Given the description of an element on the screen output the (x, y) to click on. 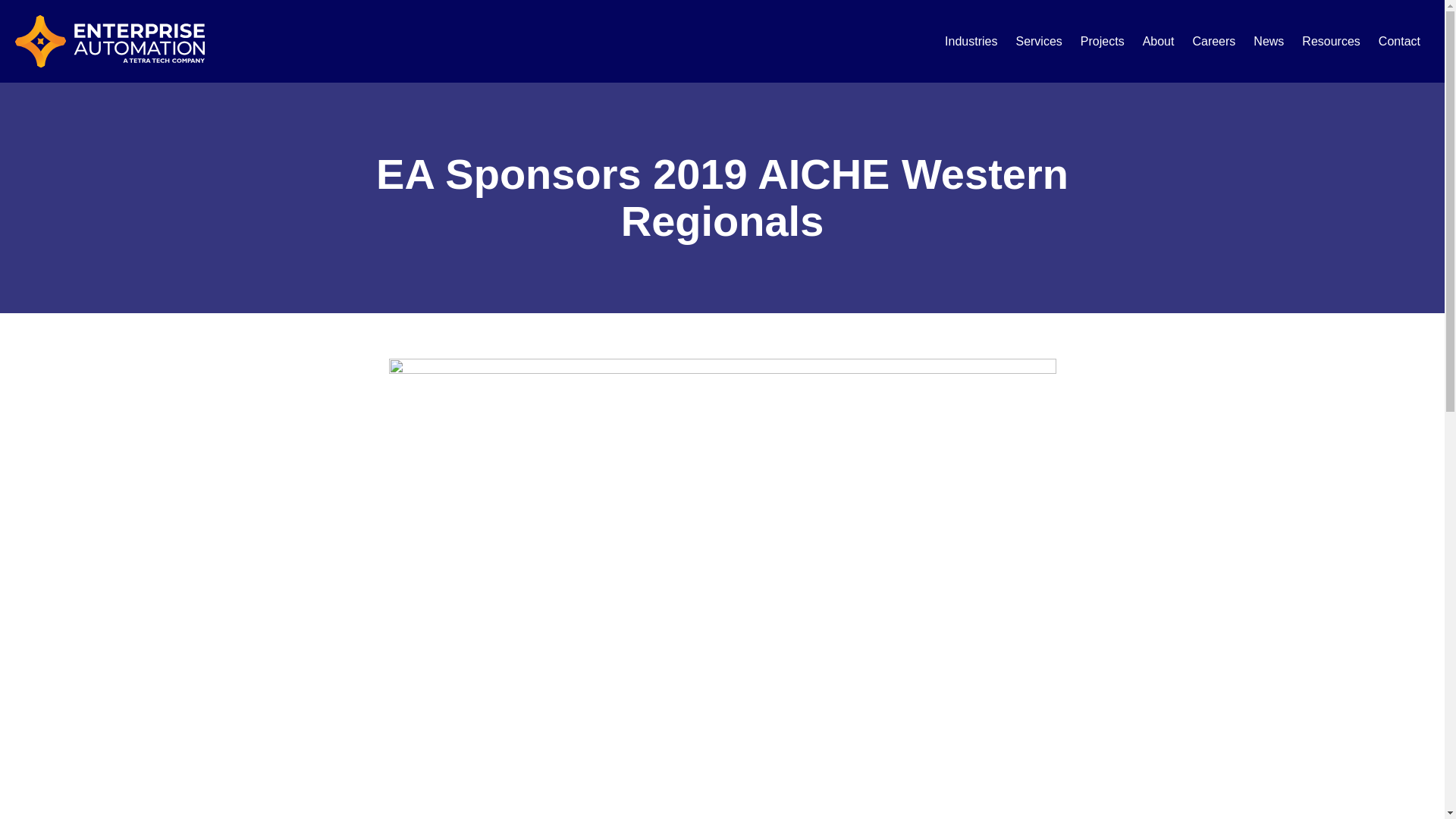
Resources (1330, 41)
About (1158, 41)
Industries (971, 41)
Services (1038, 41)
Careers (1213, 41)
Contact (1399, 41)
News (1268, 41)
Projects (1102, 41)
